Given the description of an element on the screen output the (x, y) to click on. 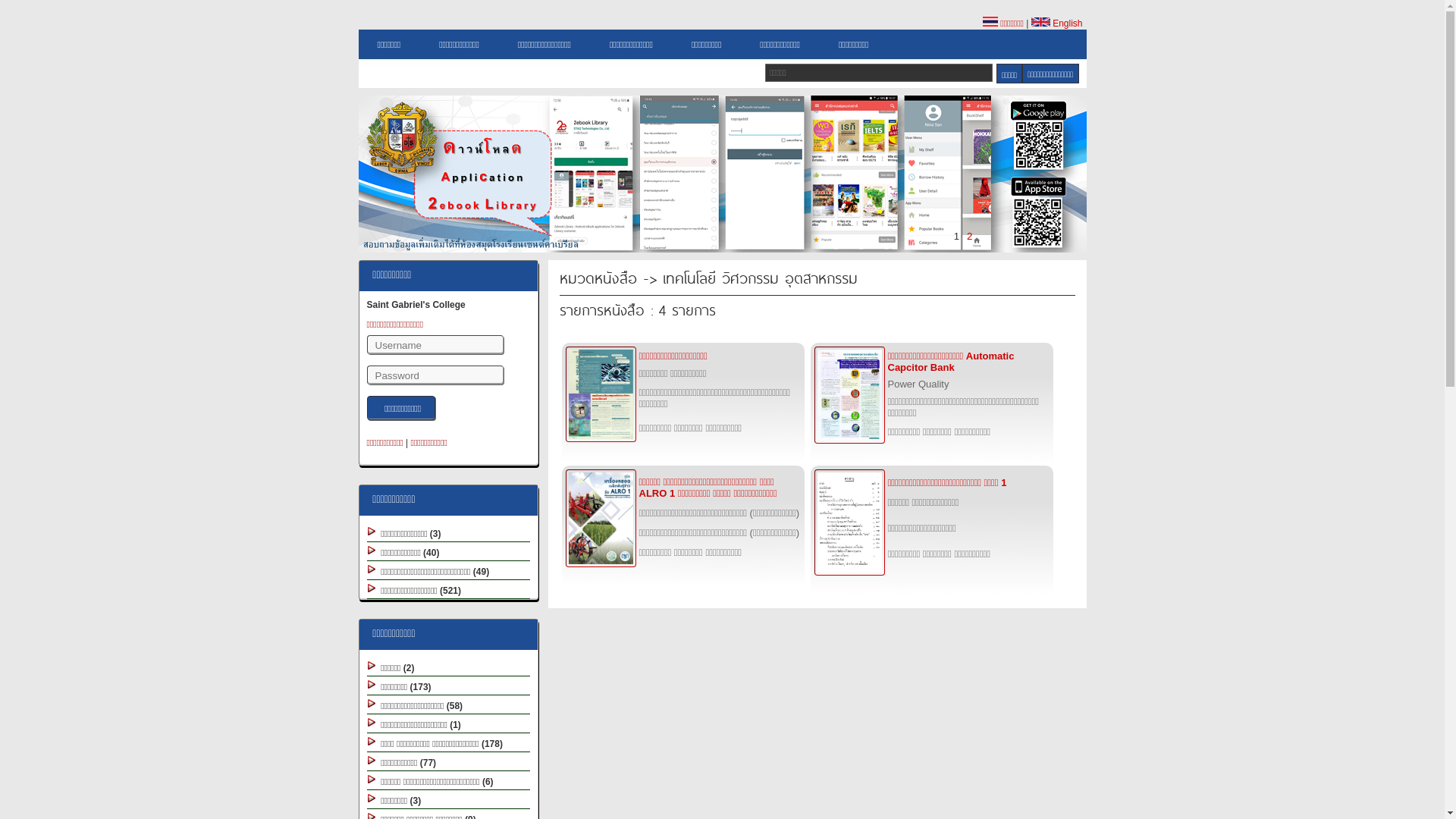
English Element type: text (1056, 23)
Search Element type: hover (1009, 73)
2 Element type: text (969, 235)
1 Element type: text (956, 235)
keyword Element type: hover (878, 72)
